Given the description of an element on the screen output the (x, y) to click on. 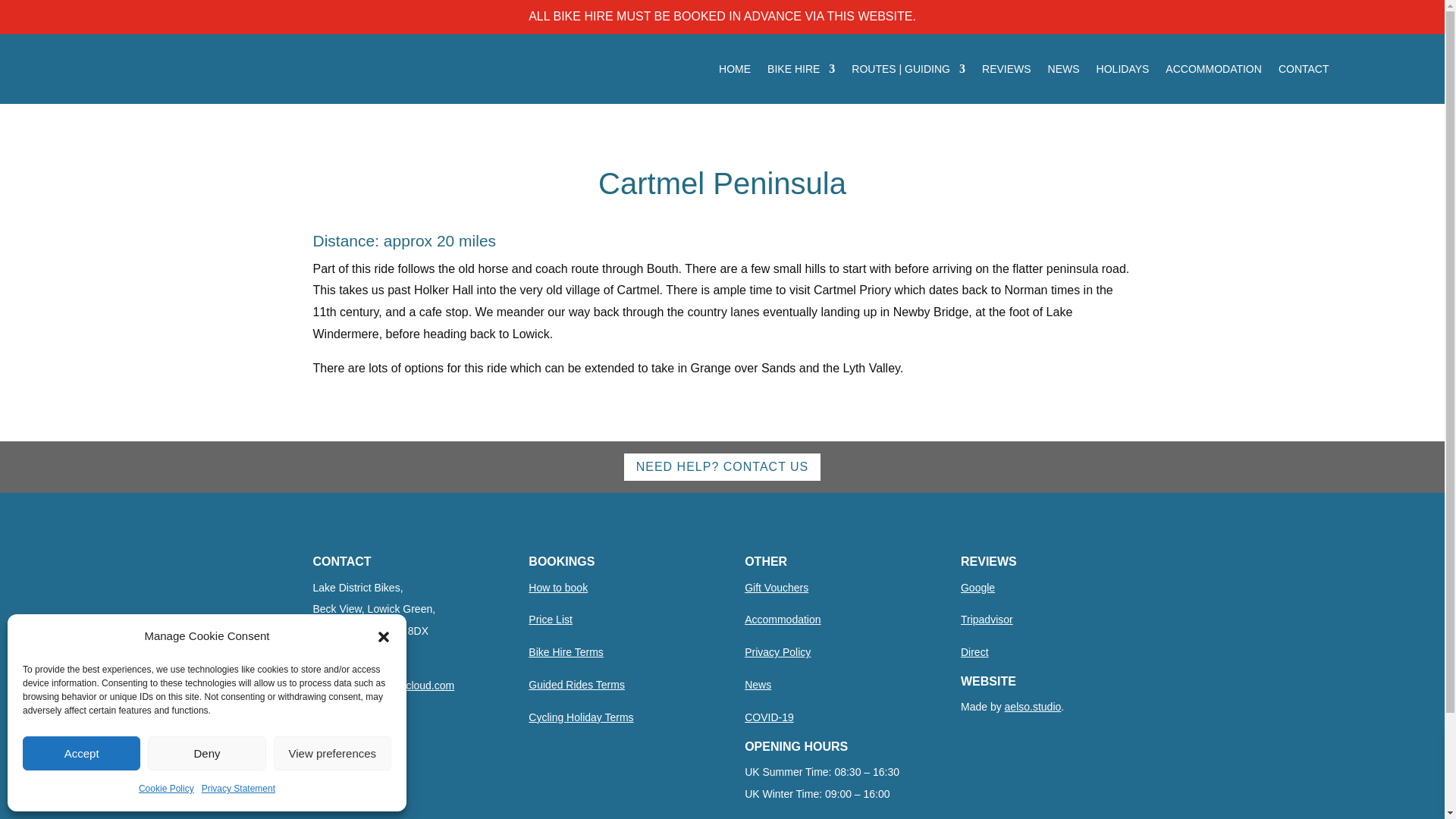
HOME (735, 68)
View preferences (332, 753)
NEWS (1064, 68)
Deny (206, 753)
HOLIDAYS (1123, 68)
BIKE HIRE (800, 68)
Accept (81, 753)
ACCOMMODATION (1214, 68)
REVIEWS (1005, 68)
Cookie Policy (165, 789)
Privacy Statement (238, 789)
